Given the description of an element on the screen output the (x, y) to click on. 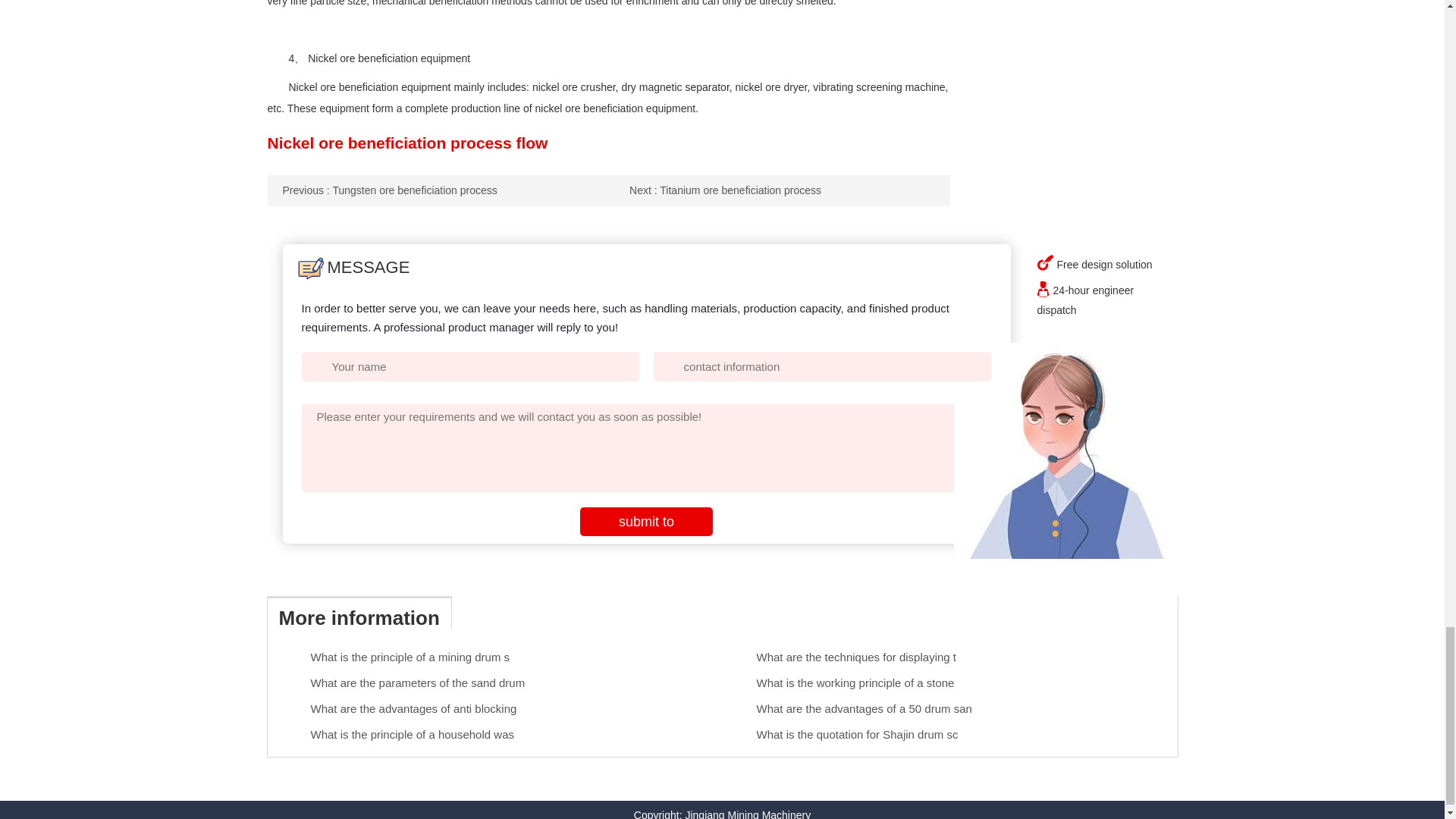
MESSAGE (353, 266)
Titanium ore beneficiation process (724, 190)
Previous : Tungsten ore beneficiation process (389, 190)
What is the principle of a mining drum s (411, 656)
What are the techniques for displaying t (856, 656)
Next : Titanium ore beneficiation process (724, 190)
Tungsten ore beneficiation process (389, 190)
submit to (646, 521)
submit to (646, 521)
